Given the description of an element on the screen output the (x, y) to click on. 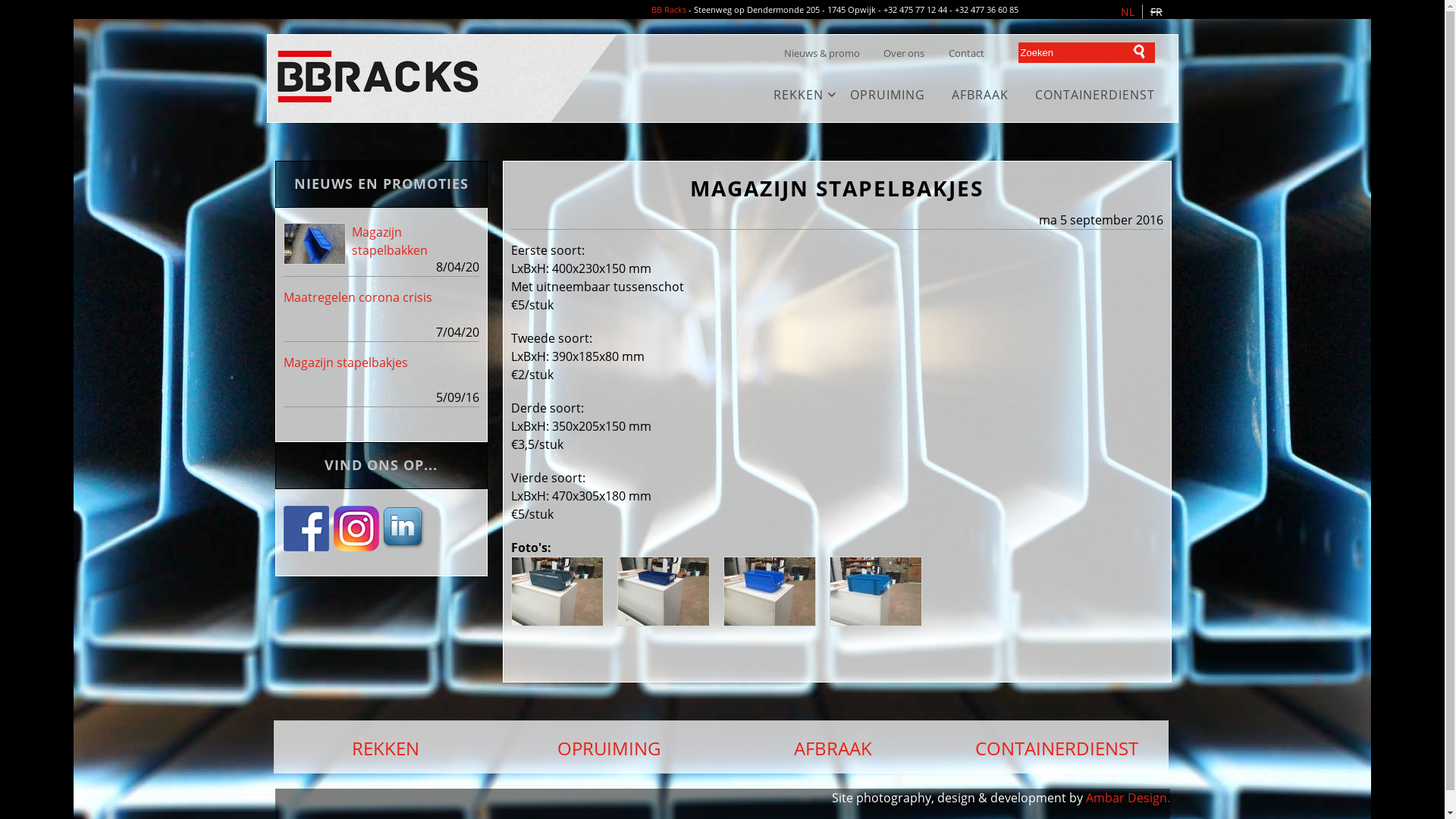
OPRUIMING Element type: text (609, 746)
Vind B&B Racks bvba op LinkedIn Element type: hover (404, 528)
AFBRAAK Element type: text (978, 94)
AFBRAAK Element type: text (832, 746)
CONTAINERDIENST Element type: text (1056, 746)
Vind B&B Racks bvba op Facebook Element type: hover (307, 543)
Magazijn stapelbakjes Element type: text (345, 362)
Ambar Design. Element type: text (1127, 797)
Vind B&B Racks bvba op LinkedIn Element type: hover (404, 543)
CONTAINERDIENST Element type: text (1094, 94)
REKKEN Element type: text (384, 746)
Maatregelen corona crisis Element type: text (357, 296)
Magazijn stapelbakken Element type: text (389, 240)
Overslaan en naar de inhoud gaan Element type: text (694, 1)
NL Element type: text (1127, 11)
Vind B&B Racks bvba op Instagram Element type: hover (356, 543)
OPRUIMING Element type: text (886, 94)
Vind B&B Racks bvba op Instagram Element type: hover (356, 528)
Over ons Element type: text (903, 52)
Nieuws & promo Element type: text (821, 52)
Contact Element type: text (965, 52)
Vind B&B Racks bvba op Facebook Element type: hover (307, 528)
